Given the description of an element on the screen output the (x, y) to click on. 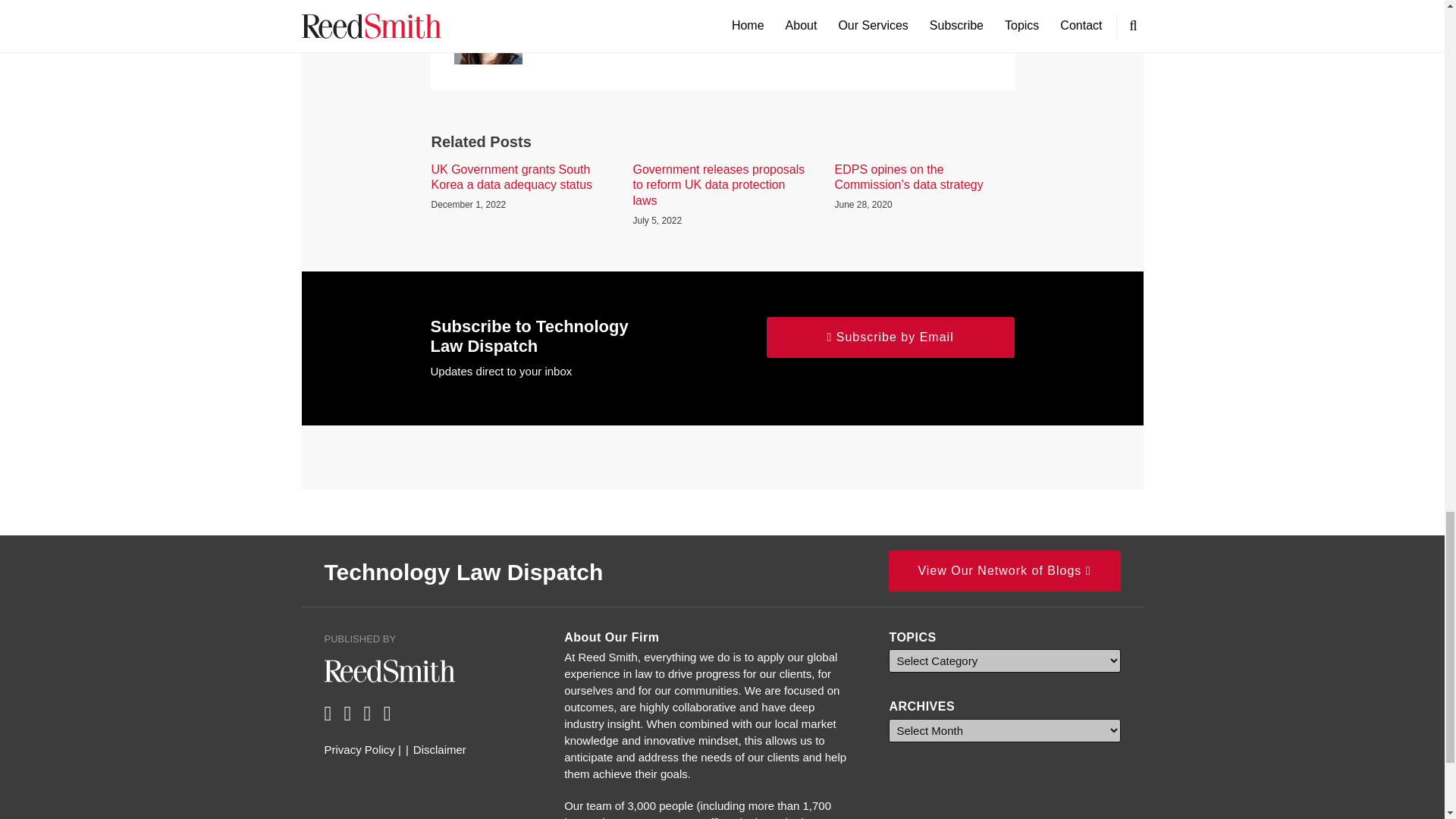
UK Government grants South Korea a data adequacy status (520, 178)
Subscribe by Email (890, 336)
Technology Law Dispatch (464, 570)
View Our Network of Blogs (1004, 570)
